Given the description of an element on the screen output the (x, y) to click on. 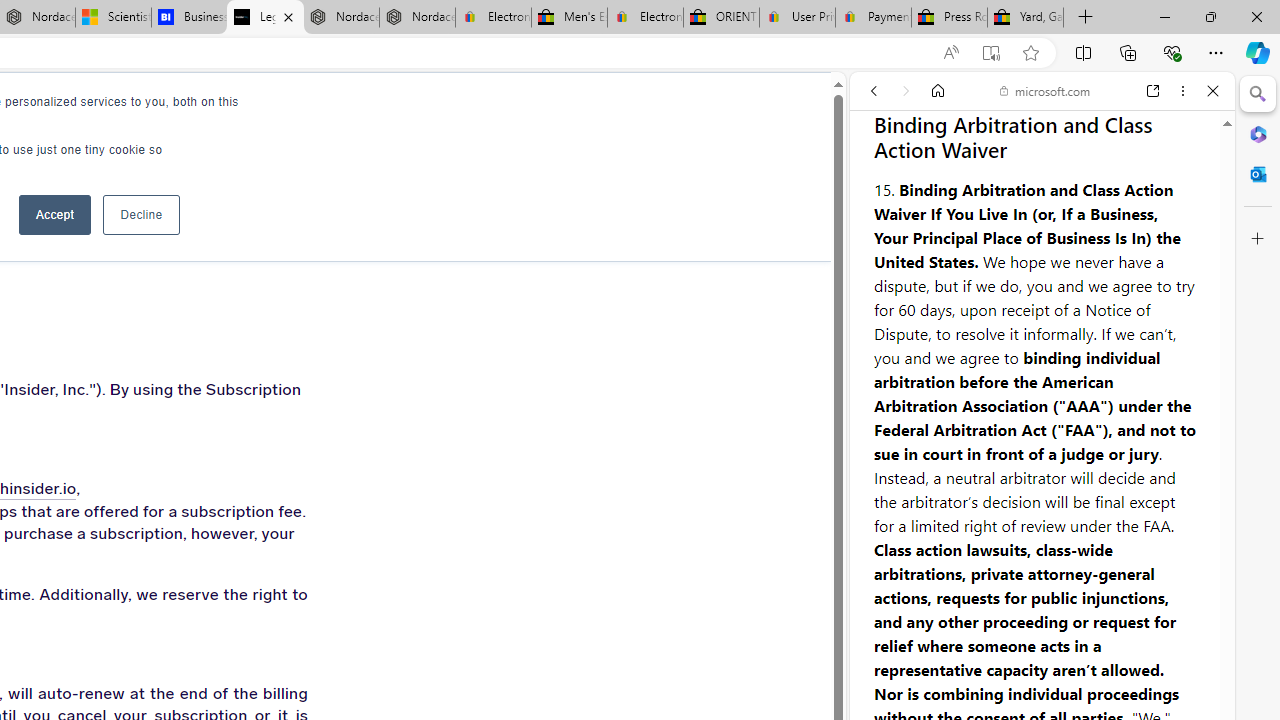
Payments Terms of Use | eBay.com (873, 17)
Yard, Garden & Outdoor Living (1025, 17)
Press Room - eBay Inc. (948, 17)
